Given the description of an element on the screen output the (x, y) to click on. 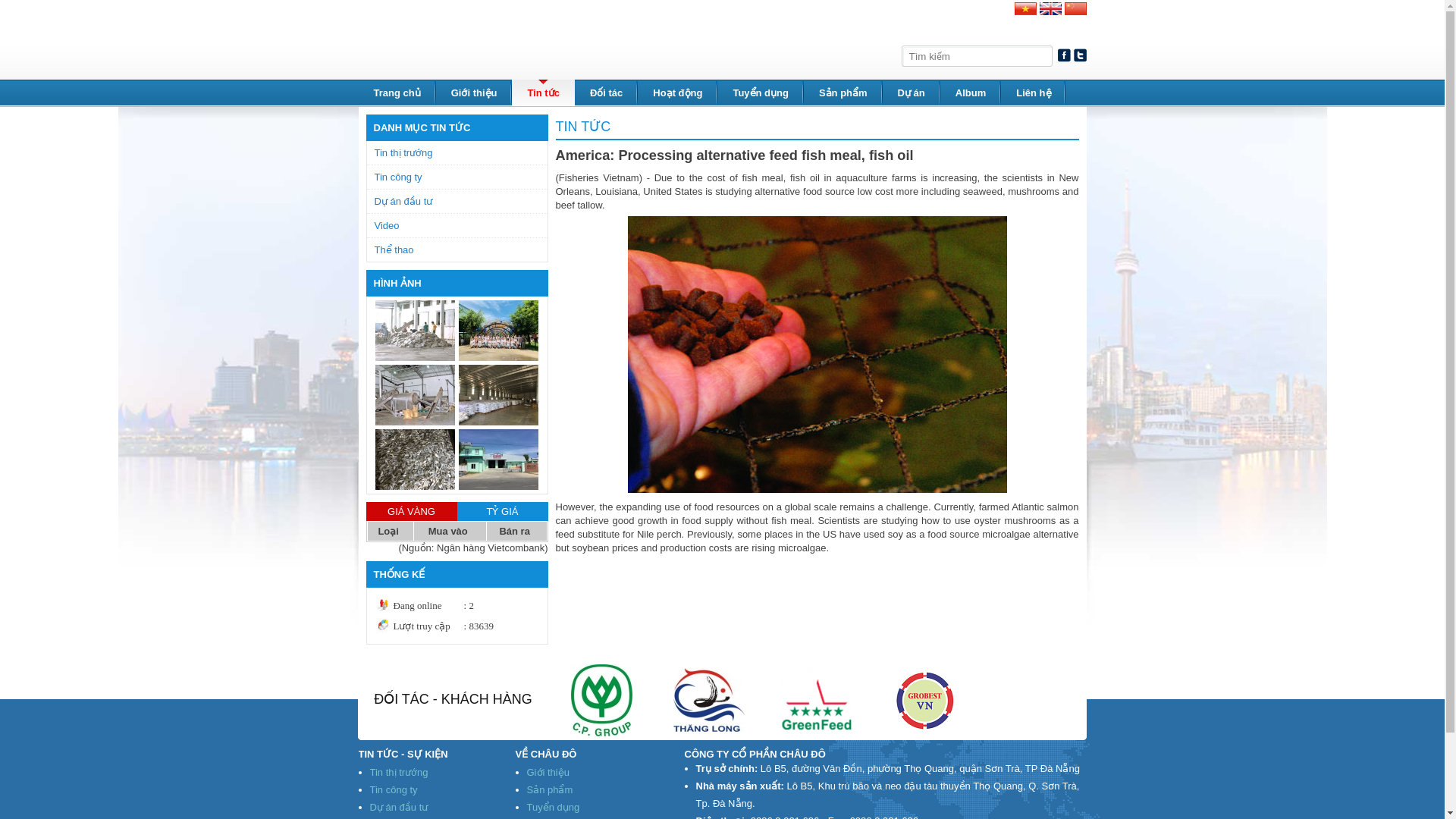
Album (970, 92)
